Given the description of an element on the screen output the (x, y) to click on. 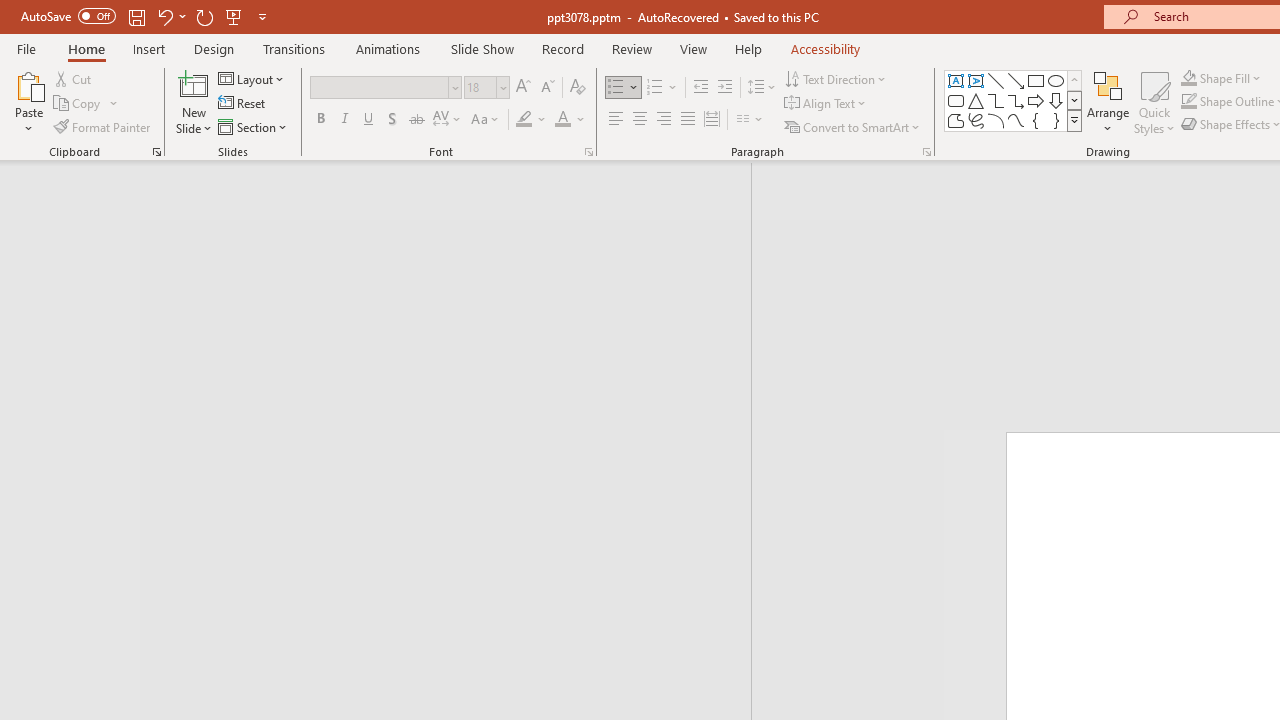
Shape Outline Green, Accent 1 (1188, 101)
Align Right (663, 119)
Change Case (486, 119)
New Slide (193, 84)
Paste (28, 102)
From Beginning (234, 15)
Center (639, 119)
Underline (369, 119)
Arrow: Right (1035, 100)
Redo (204, 15)
Quick Access Toolbar (145, 16)
Shape Fill (1221, 78)
Outline (384, 215)
